Given the description of an element on the screen output the (x, y) to click on. 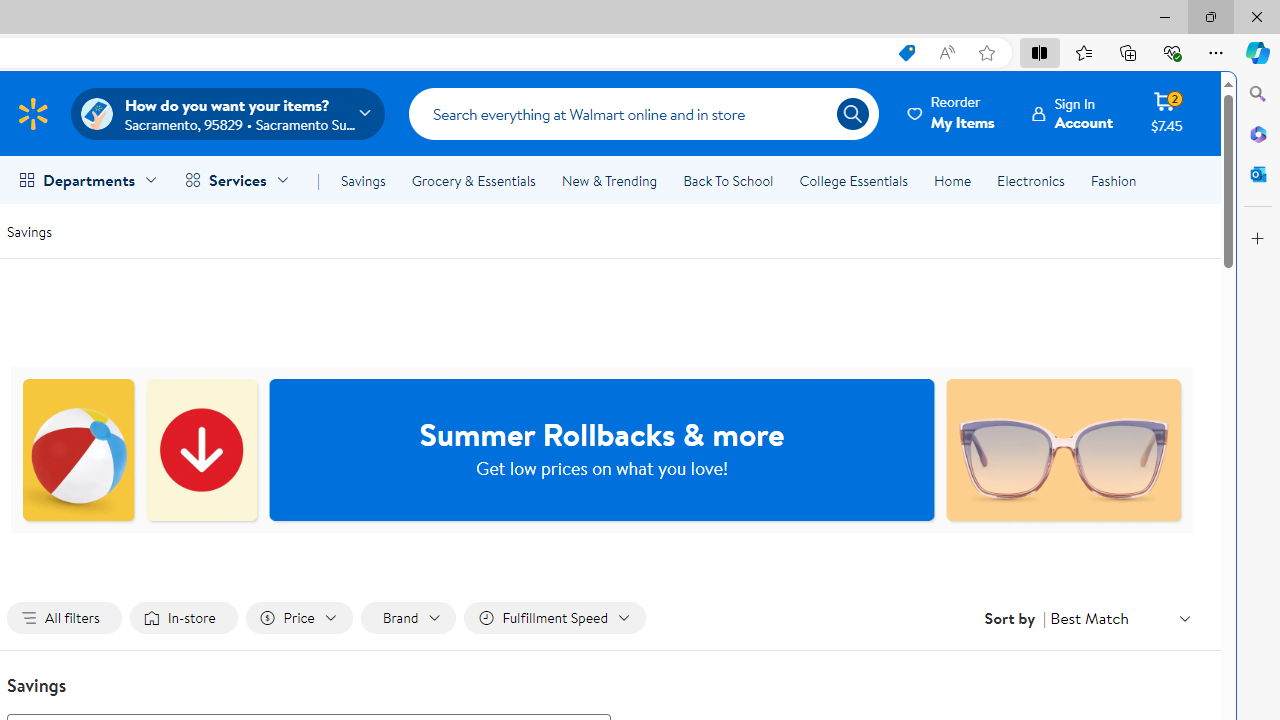
Copilot (Ctrl+Shift+.) (1258, 52)
Sign In Account (1072, 113)
Reorder My Items (952, 113)
Filter by Brand not applied, activate to change (407, 618)
New & Trending (608, 180)
Electronics (1030, 180)
Electronics (1030, 180)
Class: ld ld-ChevronDown pa0 ml6 (1184, 618)
Close Search pane (1258, 94)
Home (952, 180)
Minimize (1164, 16)
New & Trending (608, 180)
Filter by Fulfillment Speed not applied, activate to change (554, 618)
Filter by Price not applied, activate to change (298, 618)
Favorites (1083, 52)
